Given the description of an element on the screen output the (x, y) to click on. 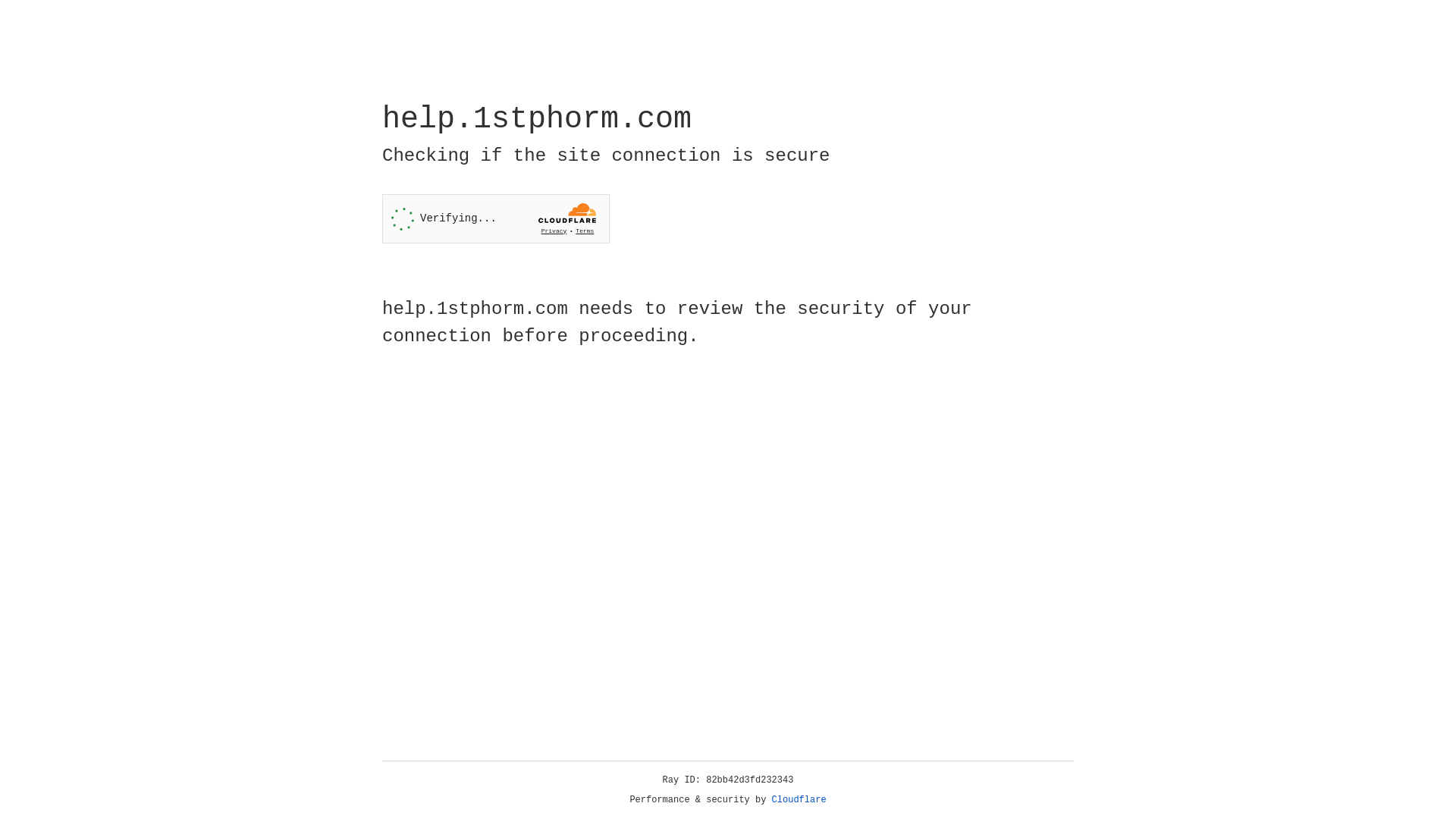
Widget containing a Cloudflare security challenge Element type: hover (495, 218)
Cloudflare Element type: text (798, 799)
